Given the description of an element on the screen output the (x, y) to click on. 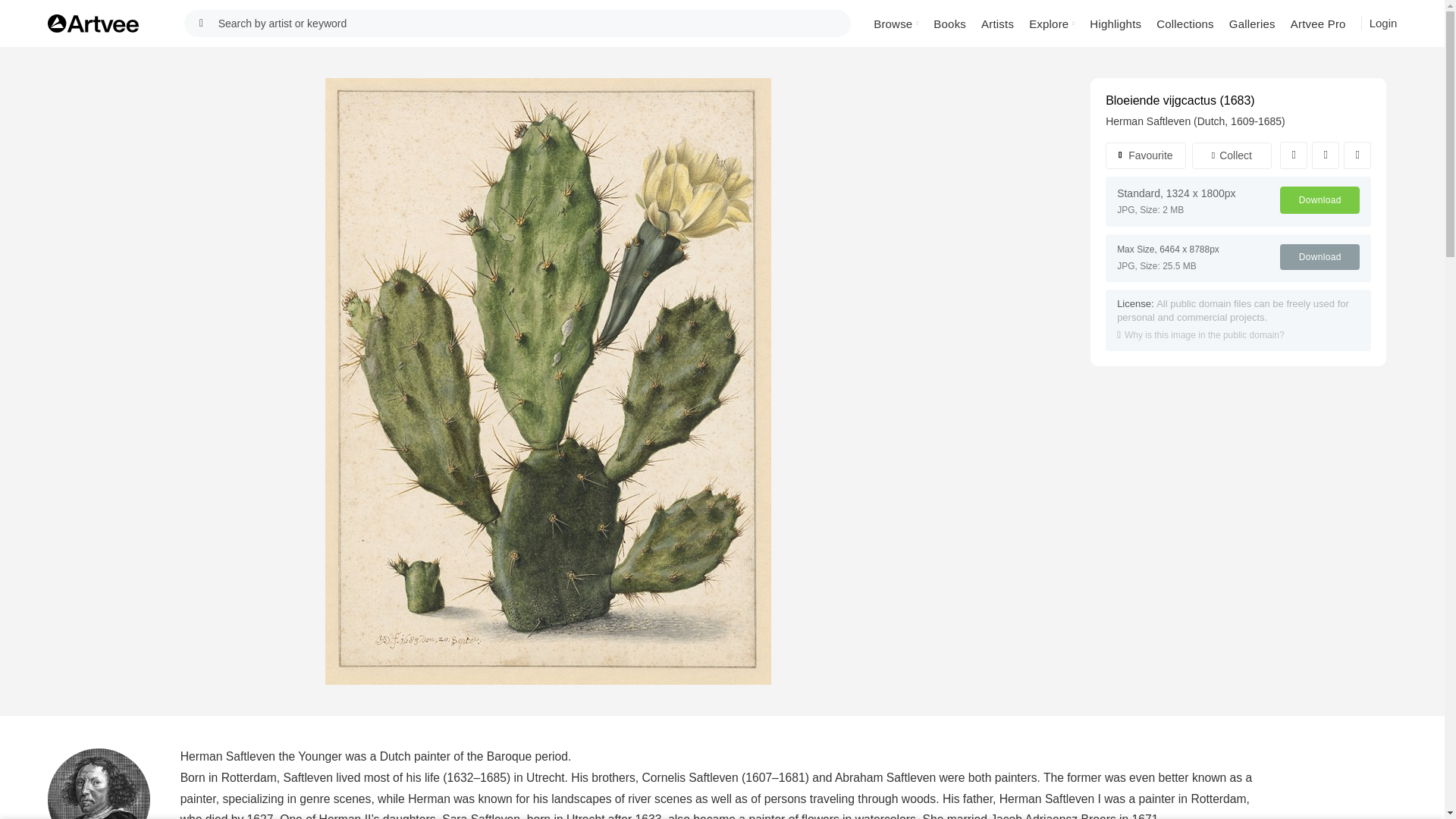
Herman Saftleven (98, 783)
Facebook (1293, 154)
Login (1383, 22)
Browse (896, 23)
Collect (1232, 155)
Collections (1184, 23)
Artvee Pro (1318, 23)
Pinterest (1357, 154)
Artists (998, 23)
Download (1319, 257)
